Given the description of an element on the screen output the (x, y) to click on. 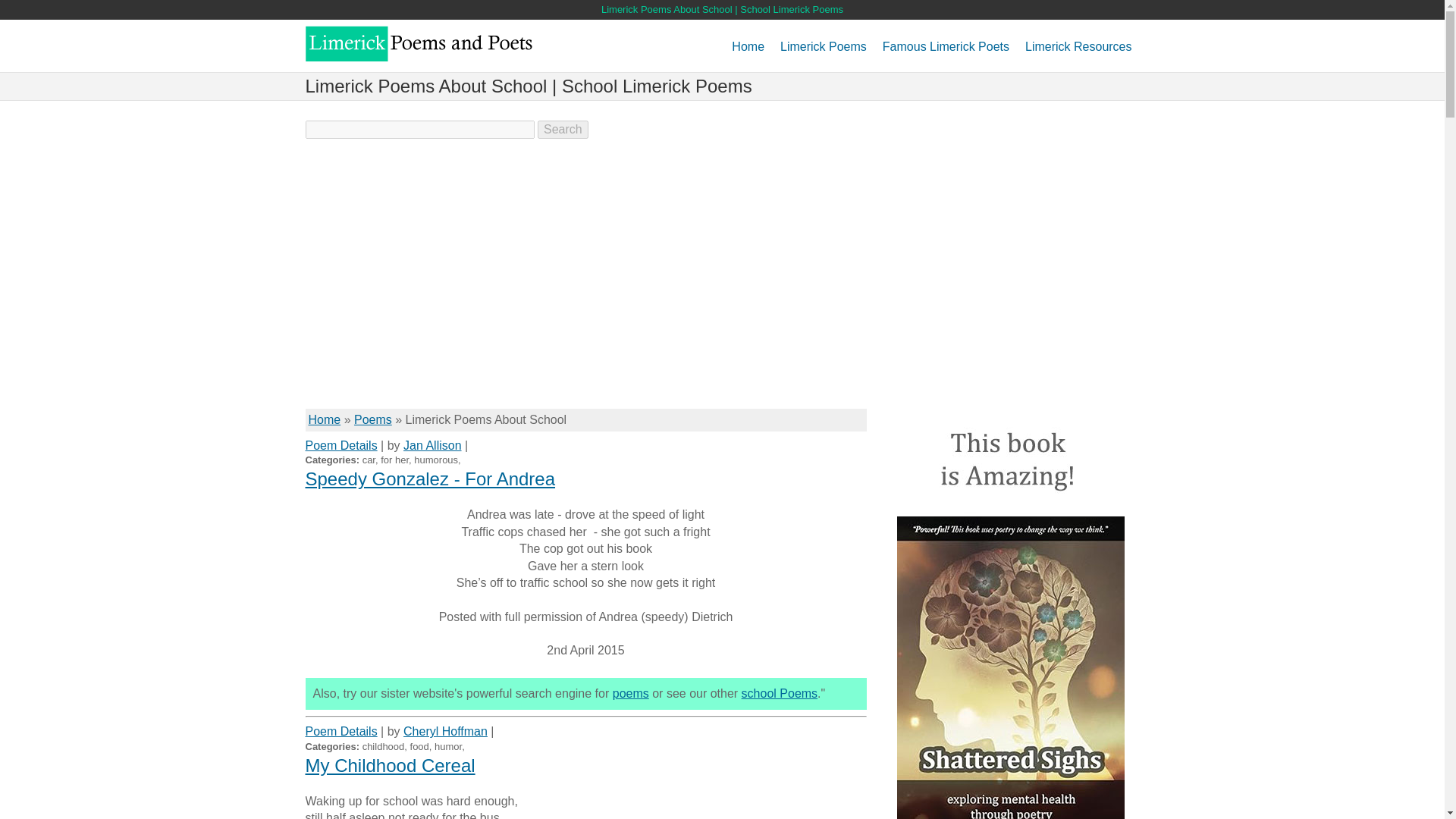
Poem Details (340, 445)
Limerick Poems (824, 51)
Limerick Resources (1077, 51)
Jan Allison (432, 445)
Poem Details (340, 730)
school Poems (779, 693)
Speedy Gonzalez - For Andrea (429, 478)
Famous Limerick Poets (945, 51)
Search (562, 129)
Advertisement (585, 286)
Cheryl Hoffman (445, 730)
poems (630, 693)
Home (747, 51)
Poems and Poem Search (630, 693)
My Childhood Cereal (389, 765)
